Given the description of an element on the screen output the (x, y) to click on. 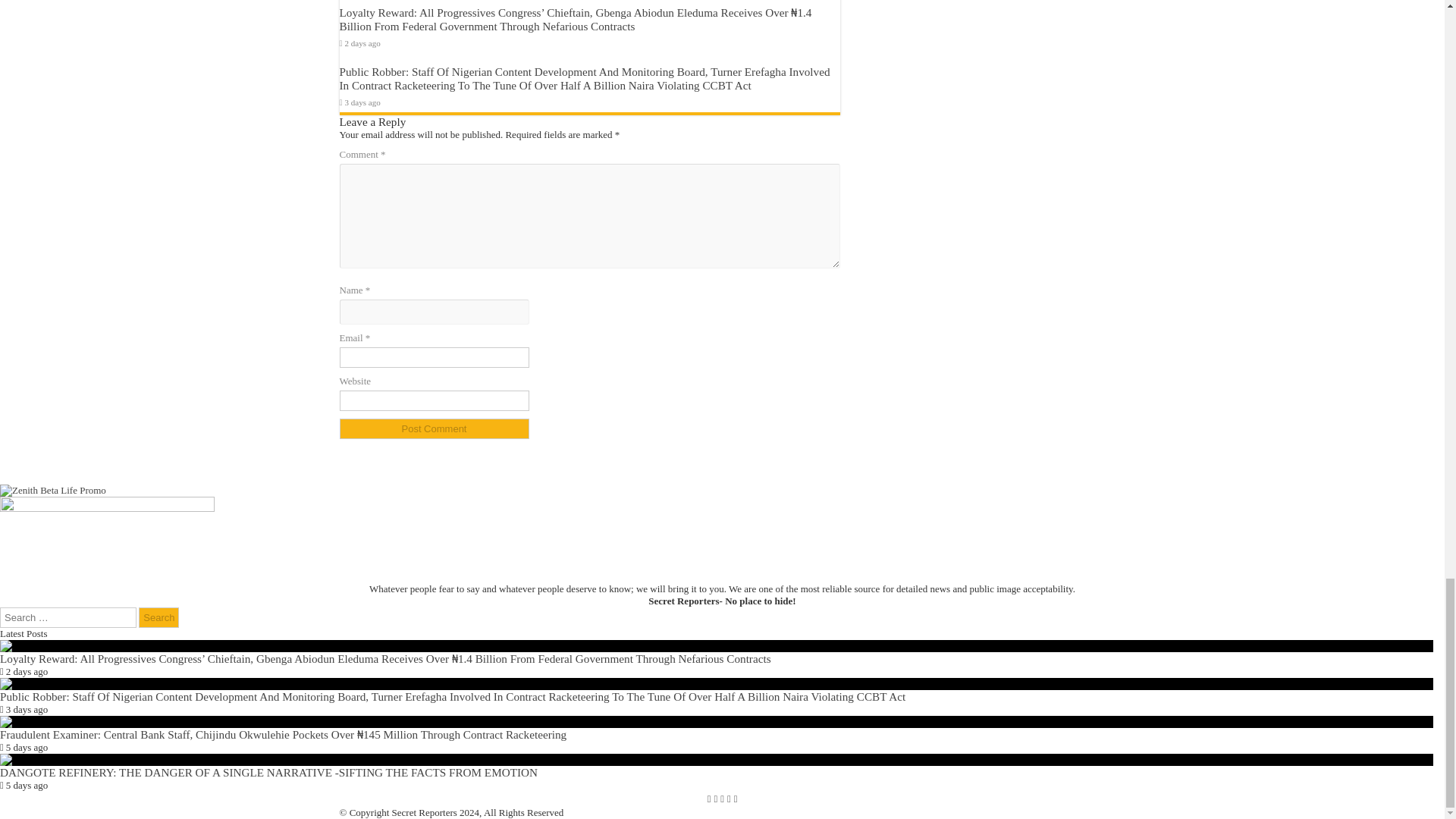
Post Comment (434, 428)
Search (158, 617)
Search (158, 617)
